Given the description of an element on the screen output the (x, y) to click on. 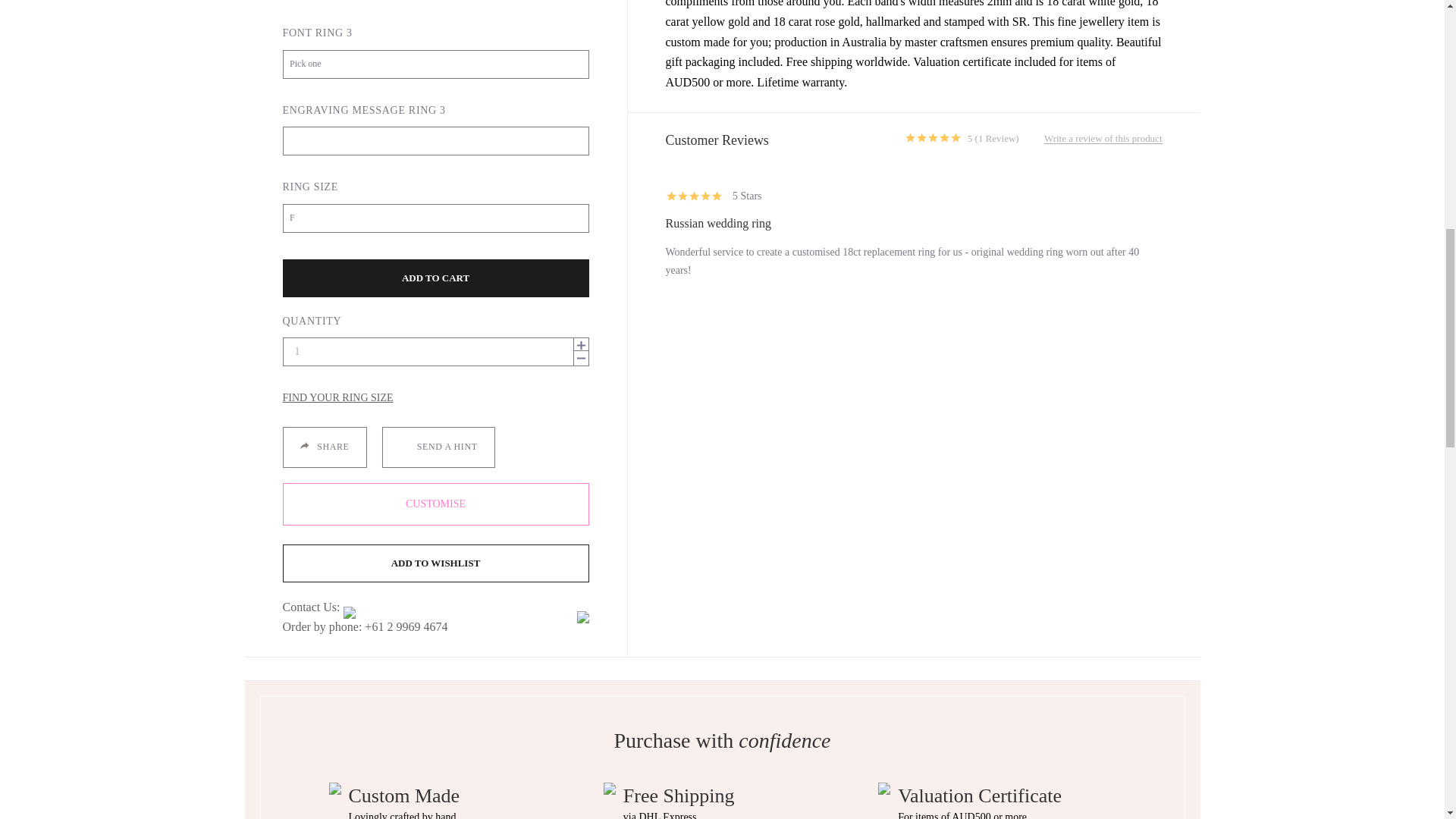
1 (435, 351)
Add to wishlist (435, 563)
